Given the description of an element on the screen output the (x, y) to click on. 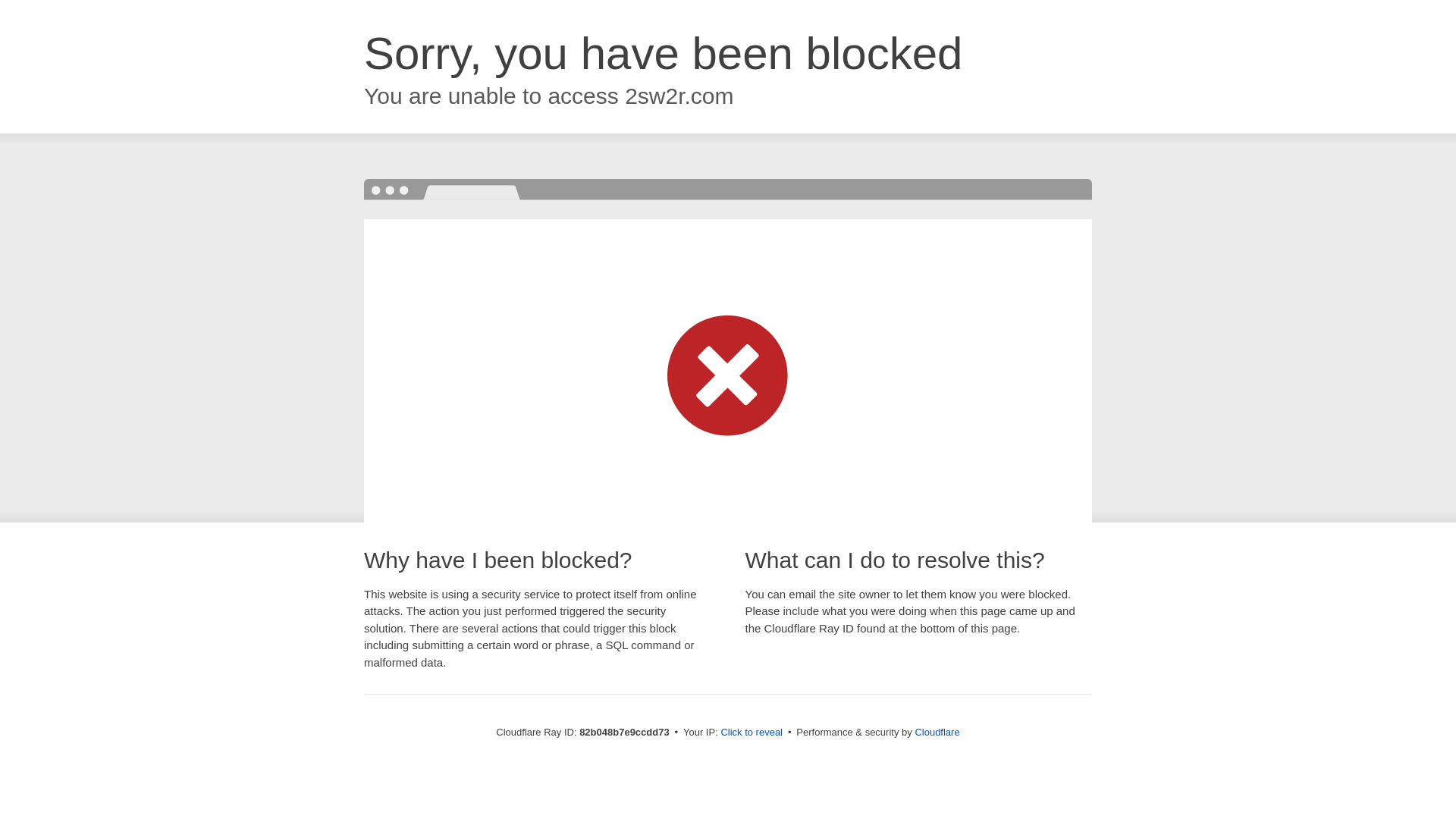
Cloudflare Element type: text (936, 731)
Click to reveal Element type: text (751, 732)
